Given the description of an element on the screen output the (x, y) to click on. 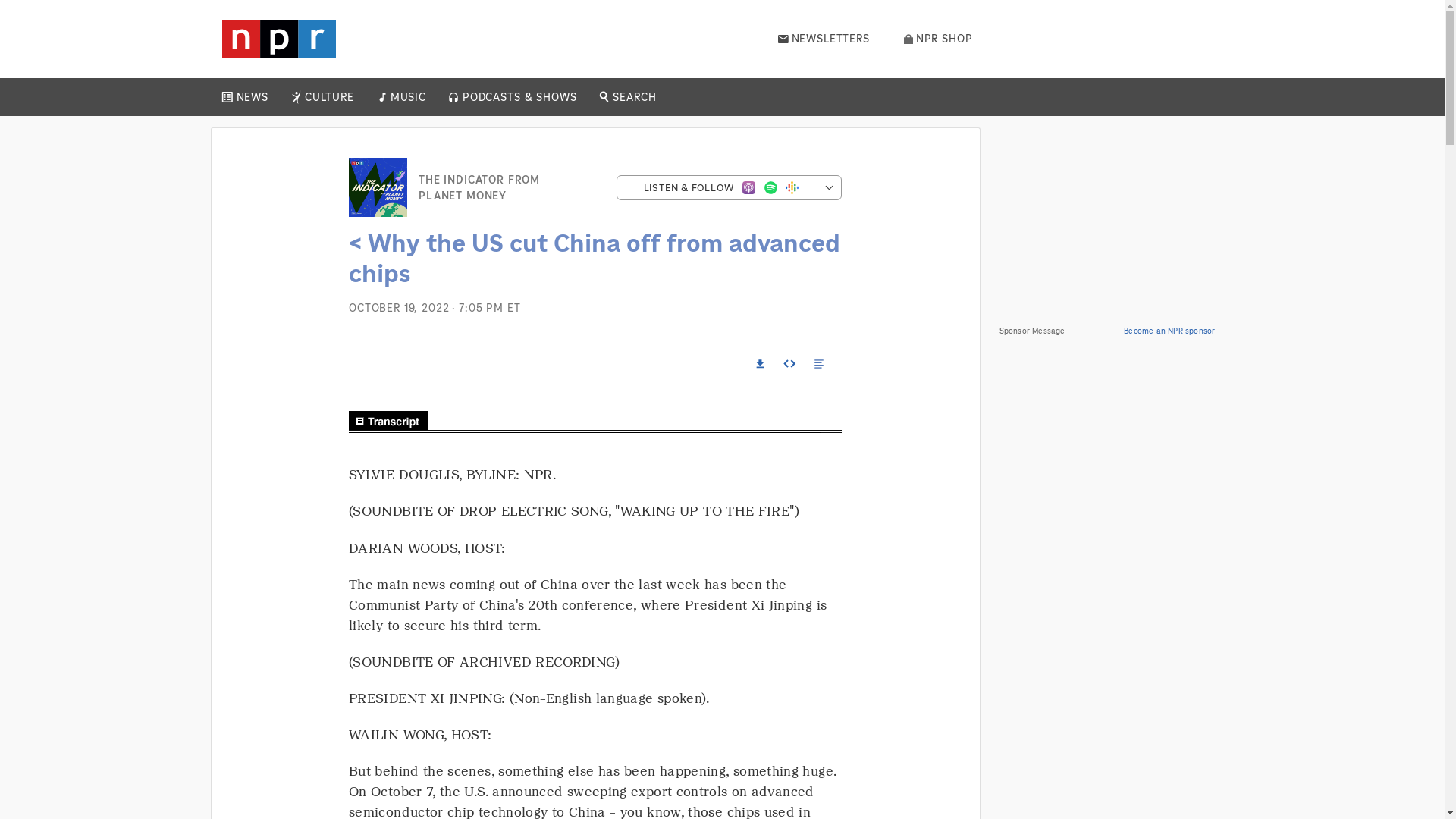
MUSIC (407, 96)
NEWSLETTERS (823, 38)
CULTURE (328, 96)
NEWS (251, 96)
NPR SHOP (938, 38)
